Given the description of an element on the screen output the (x, y) to click on. 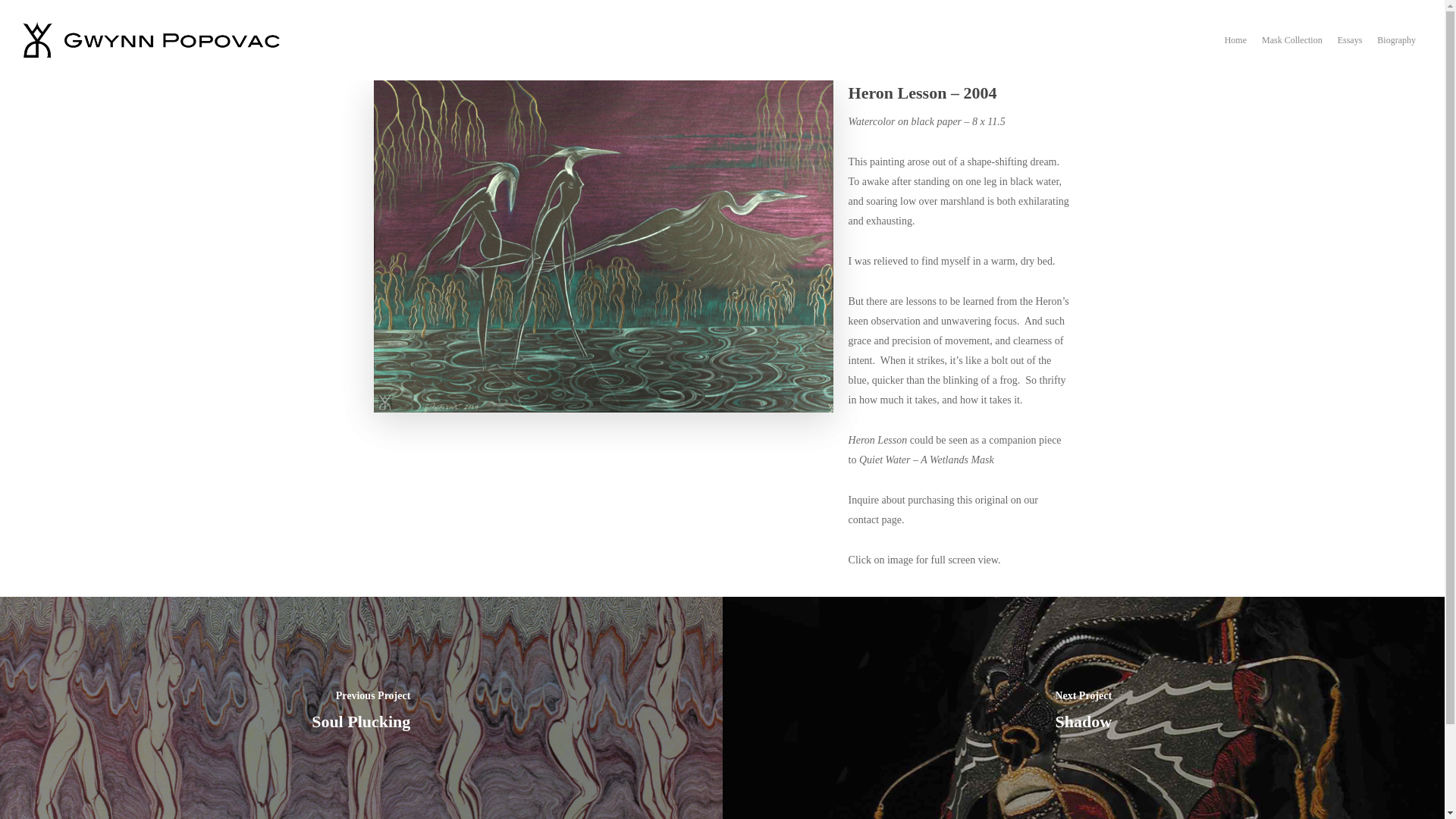
Mask Collection (1292, 50)
